Given the description of an element on the screen output the (x, y) to click on. 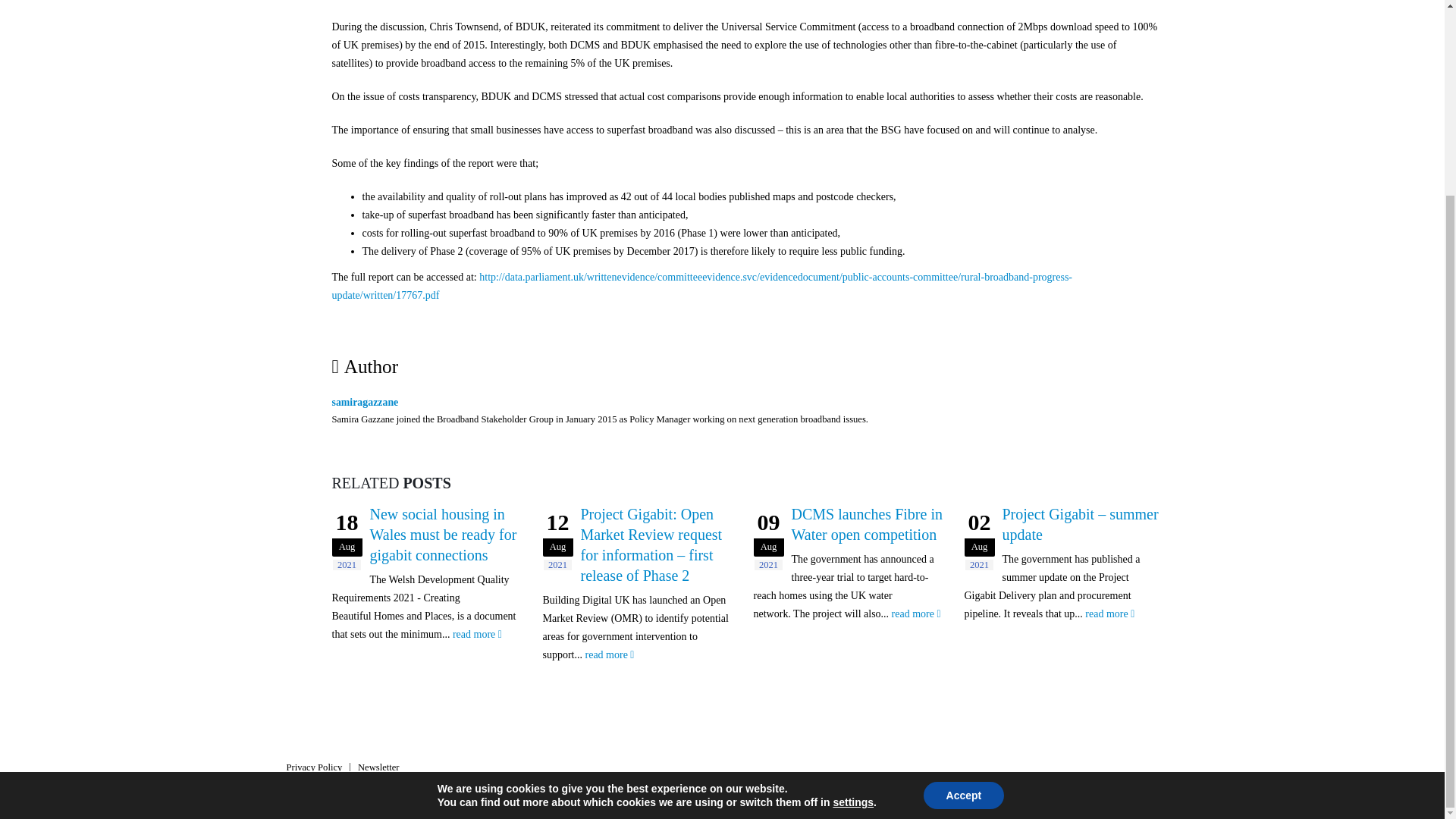
Privacy Policy (314, 767)
Accept (963, 547)
Posts by samiragazzane (364, 401)
settings (852, 554)
samiragazzane (364, 401)
Newsletter (378, 767)
read more (1109, 614)
DCMS launches Fibre in Water open competition (867, 524)
read more (609, 655)
read more (915, 614)
read more (477, 634)
